Given the description of an element on the screen output the (x, y) to click on. 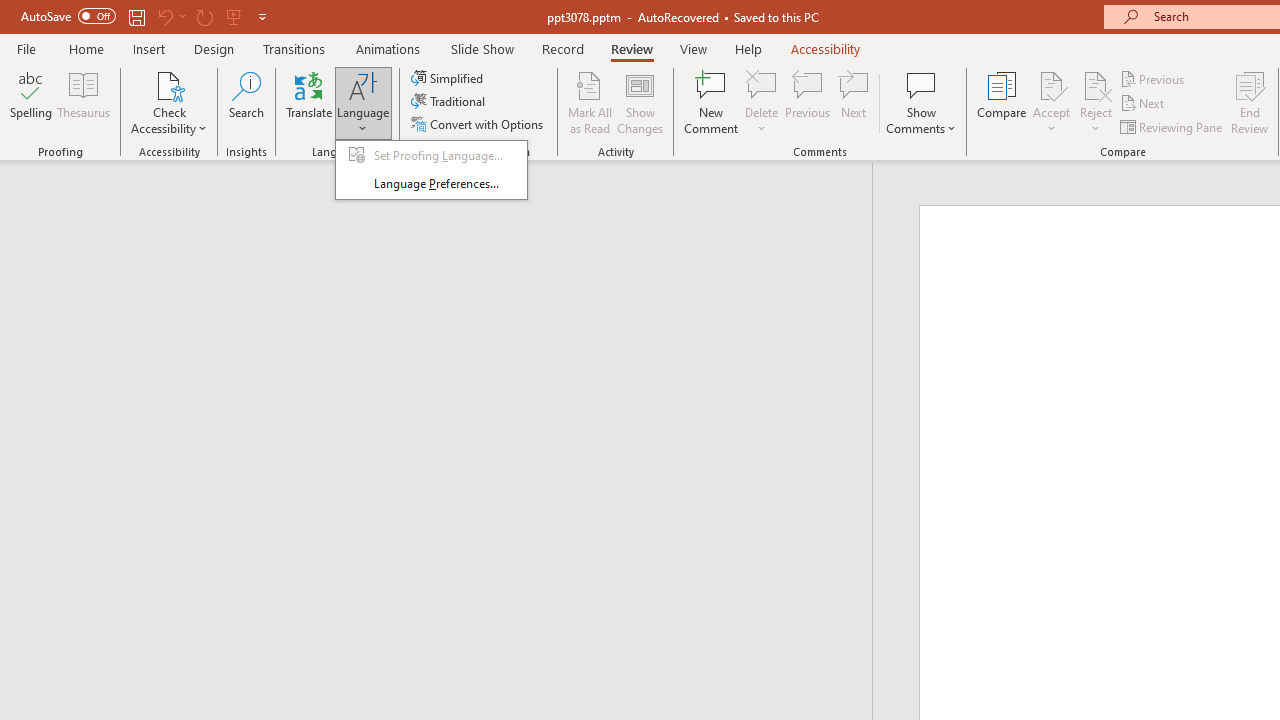
Convert with Options... (479, 124)
Delete (762, 102)
Accept (1051, 102)
&Language (431, 169)
